Given the description of an element on the screen output the (x, y) to click on. 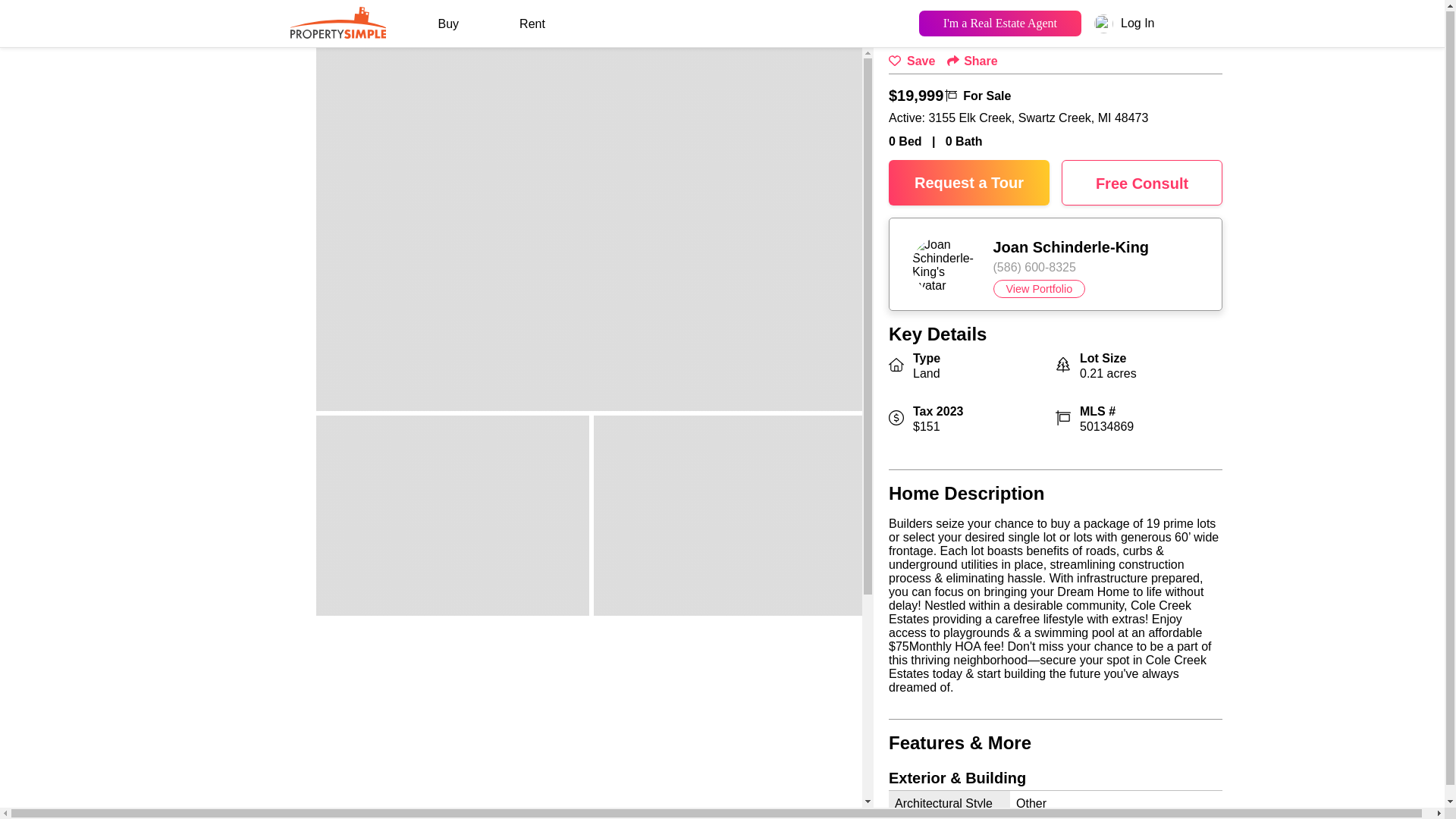
View Portfolio (1039, 289)
Request a Tour (968, 182)
PropertySimple's Logo (337, 32)
Buy (448, 23)
Rent (532, 23)
PropertySimple's Logo (337, 20)
Free Consult (1142, 182)
I'm a Real Estate Agent (999, 22)
